Given the description of an element on the screen output the (x, y) to click on. 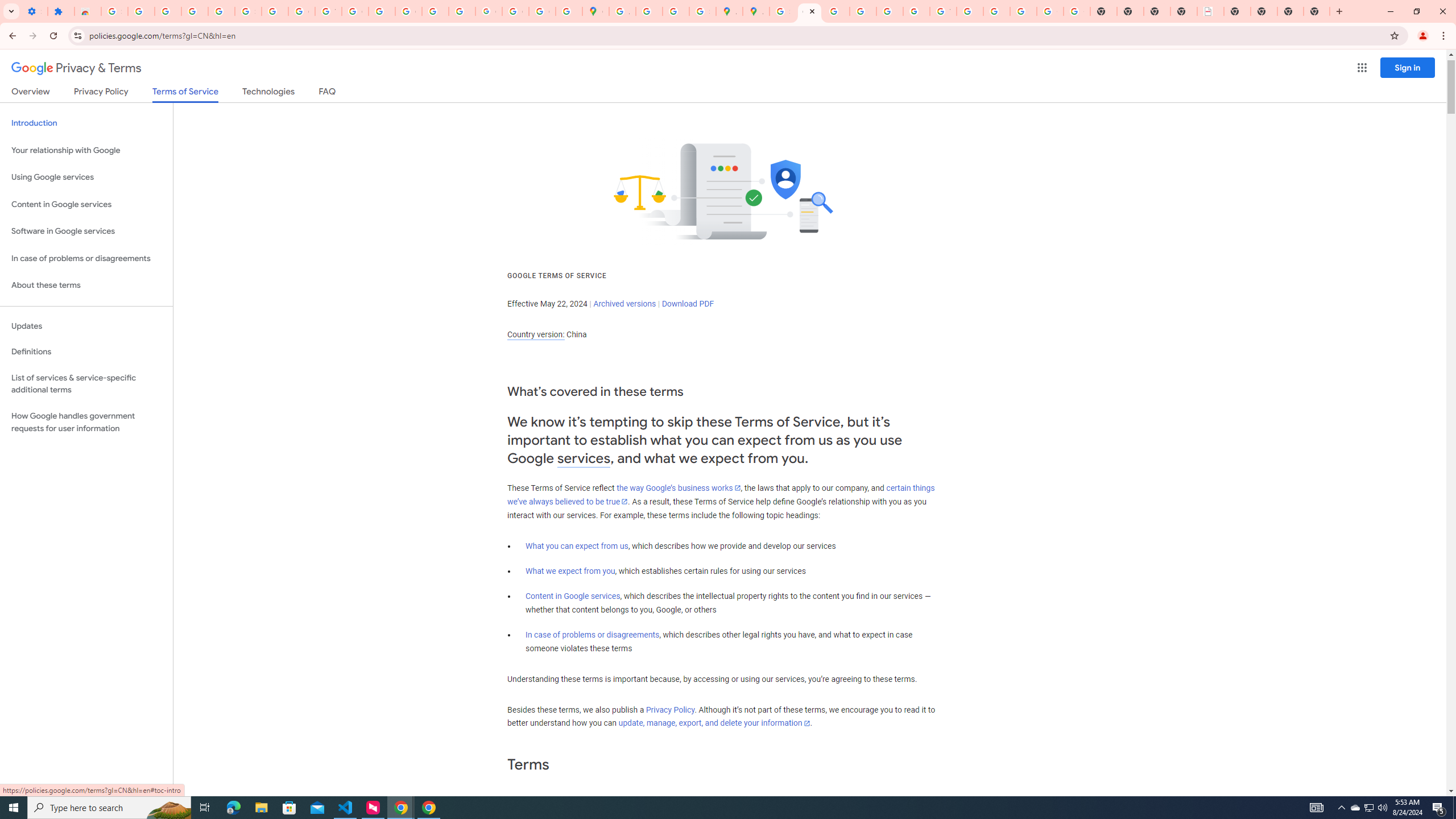
YouTube (943, 11)
Google Account (301, 11)
Google Maps (595, 11)
Settings - On startup (34, 11)
Archived versions (624, 303)
What you can expect from us (576, 545)
What we expect from you (570, 570)
